Given the description of an element on the screen output the (x, y) to click on. 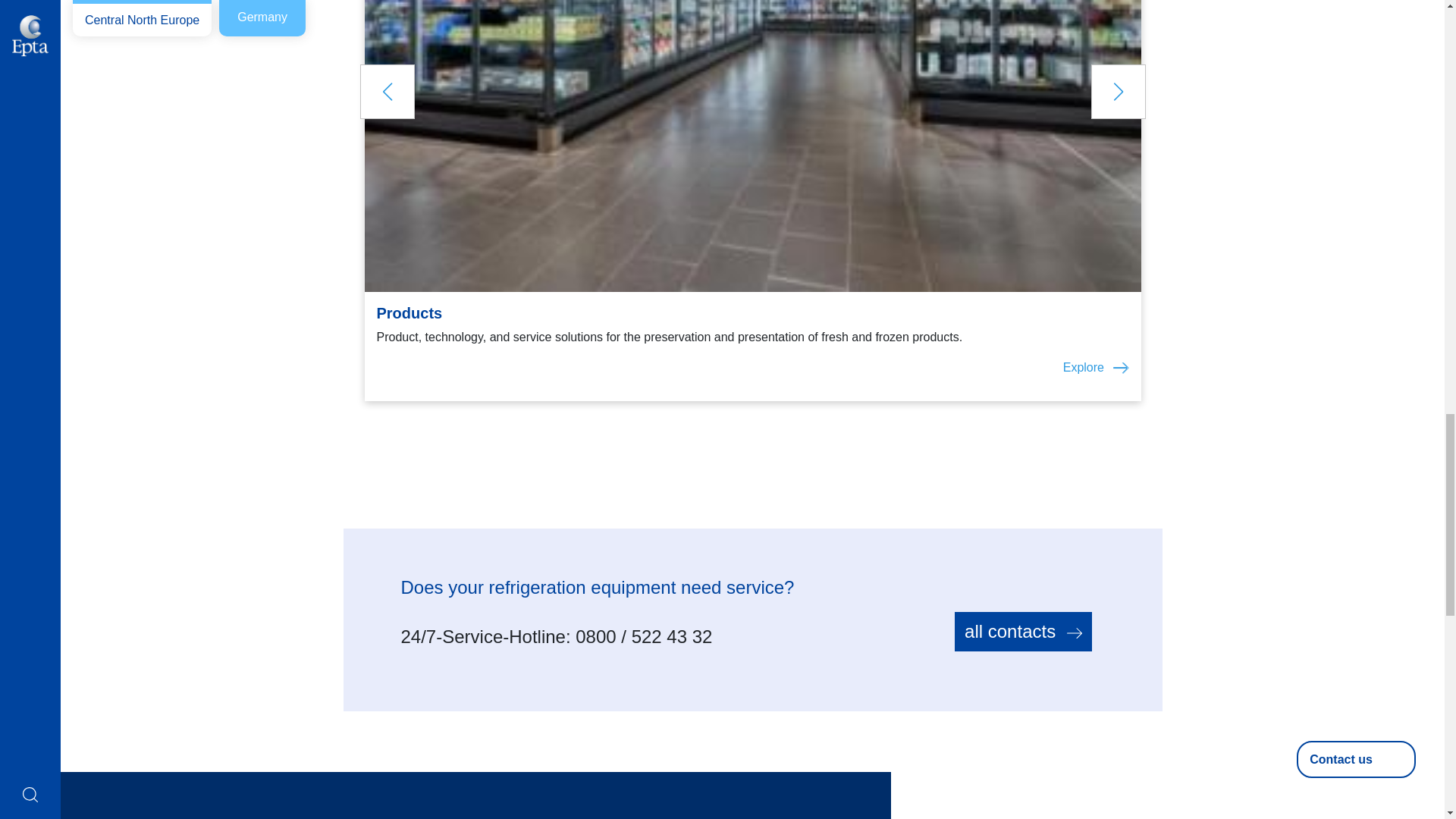
Explore (751, 367)
all contacts (1022, 631)
